Given the description of an element on the screen output the (x, y) to click on. 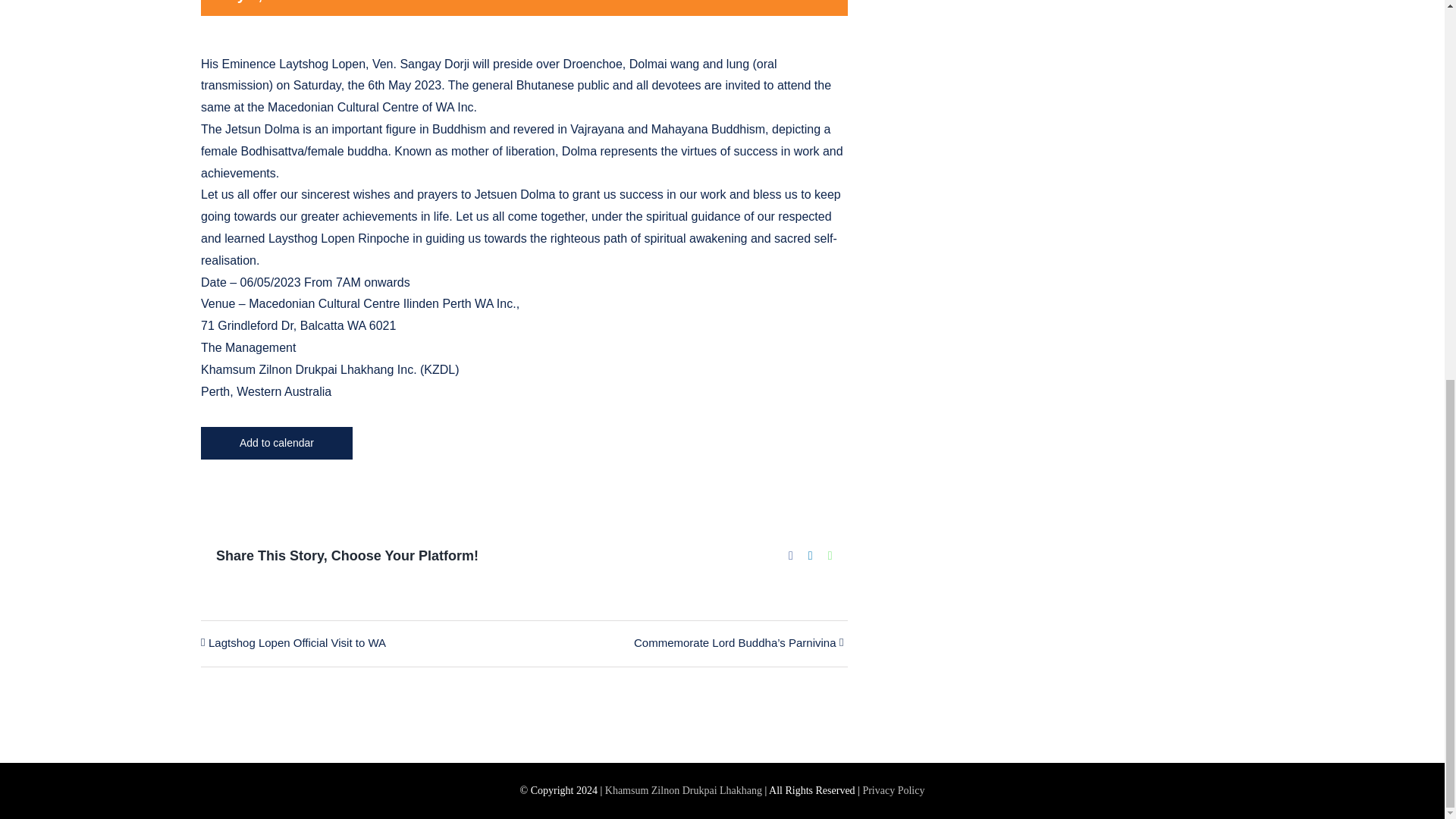
Add to calendar (277, 442)
